Given the description of an element on the screen output the (x, y) to click on. 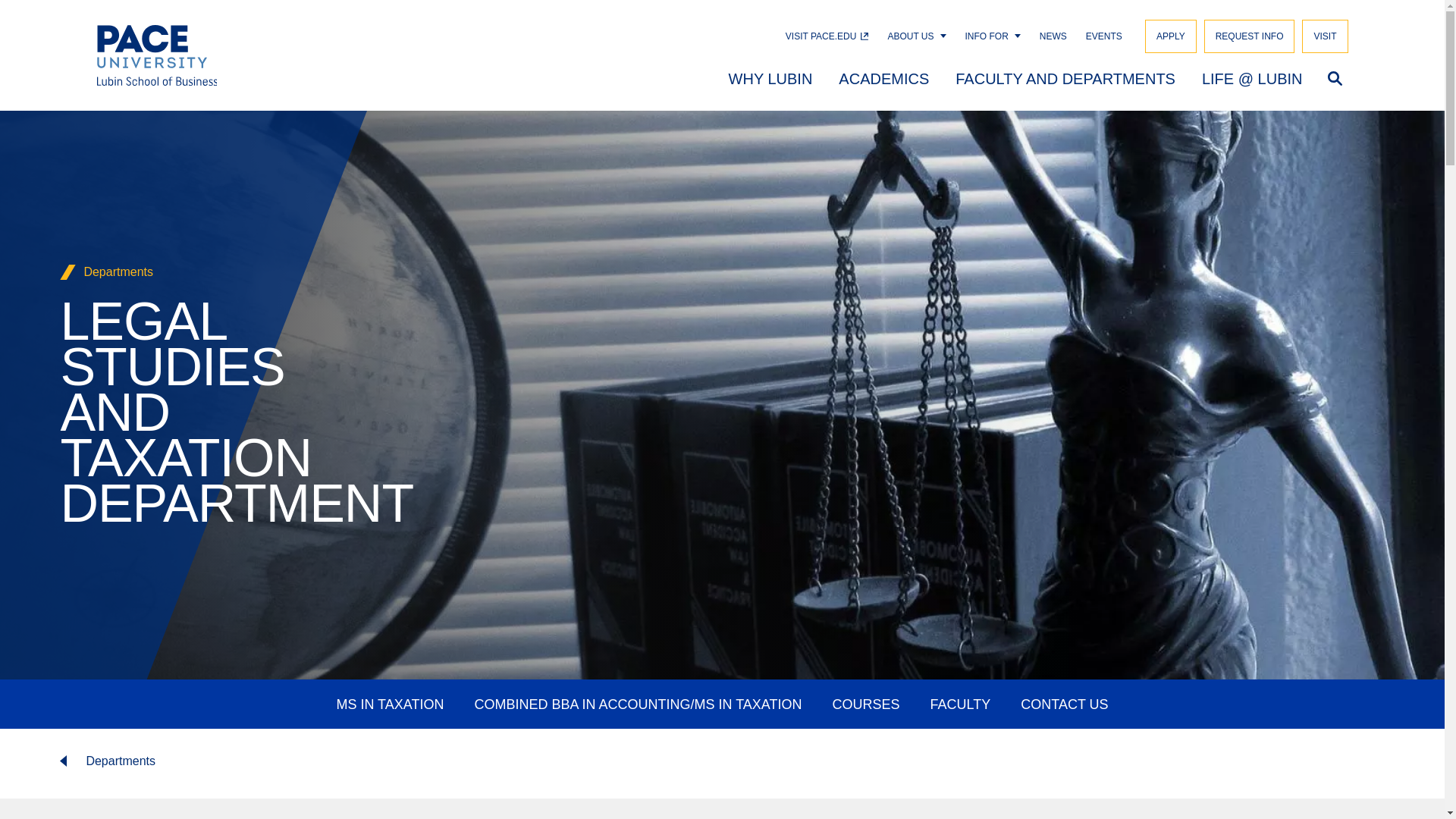
APPLY (1170, 36)
VISIT (1324, 36)
INFO FOR (987, 36)
REQUEST INFO (1249, 36)
NEWS (1053, 36)
ABOUT US (909, 36)
FACULTY AND DEPARTMENTS (1064, 76)
WHY LUBIN (770, 76)
Faculty and Departments (1064, 76)
EVENTS (1104, 36)
VISIT PACE.EDU (827, 36)
Why Lubin? (770, 76)
Academics (883, 76)
ACADEMICS (883, 76)
